Given the description of an element on the screen output the (x, y) to click on. 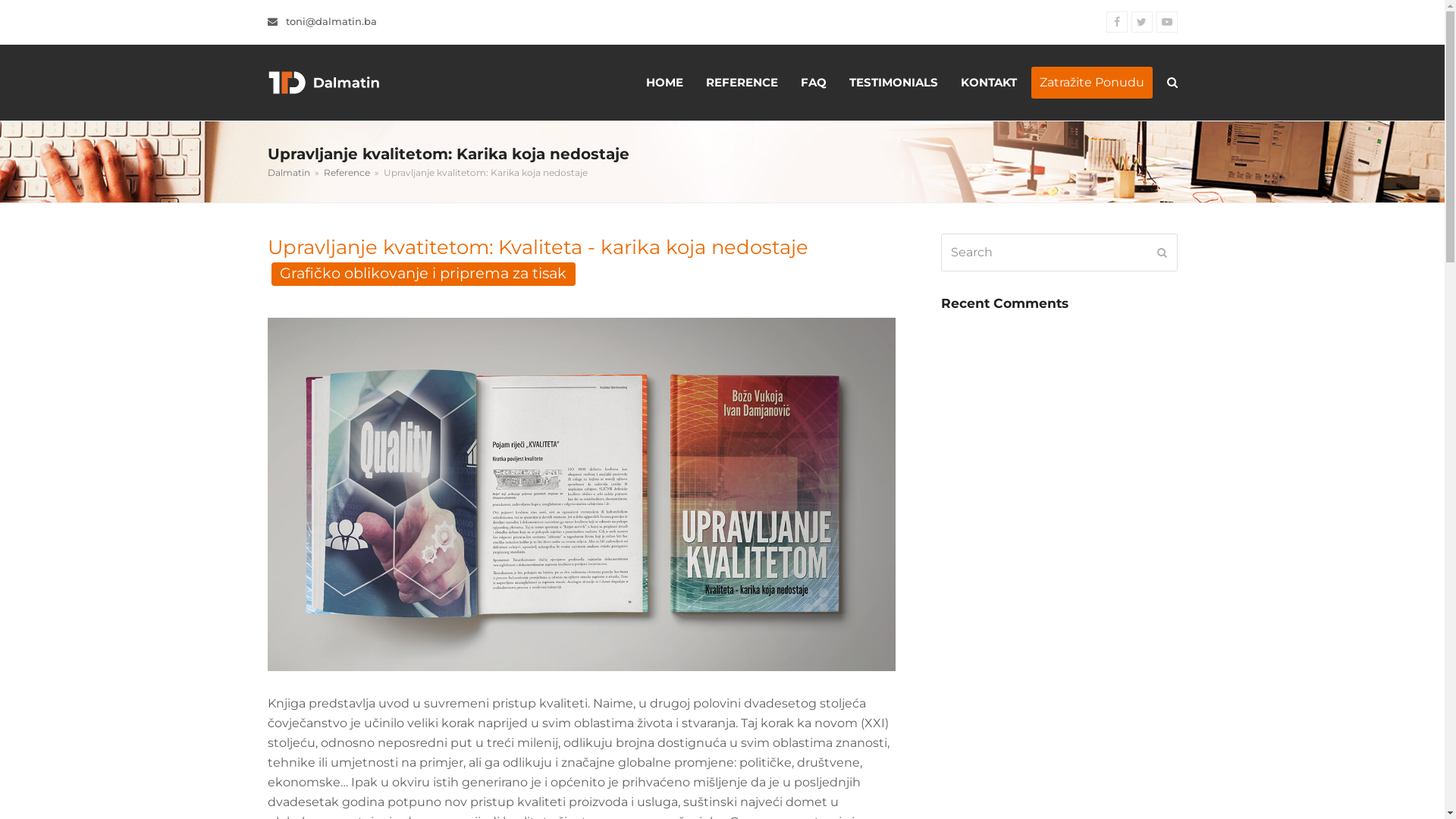
FAQ Element type: text (812, 82)
Submit Element type: text (1162, 252)
TESTIMONIALS Element type: text (892, 82)
Facebook Element type: text (1115, 21)
REFERENCE Element type: text (741, 82)
Reference Element type: text (346, 172)
upravljanje-kvalitetom-featured Element type: hover (580, 494)
Youtube Element type: text (1165, 21)
Twitter Element type: text (1141, 21)
HOME Element type: text (663, 82)
KONTAKT Element type: text (988, 82)
Dalmatin Element type: text (287, 172)
